Given the description of an element on the screen output the (x, y) to click on. 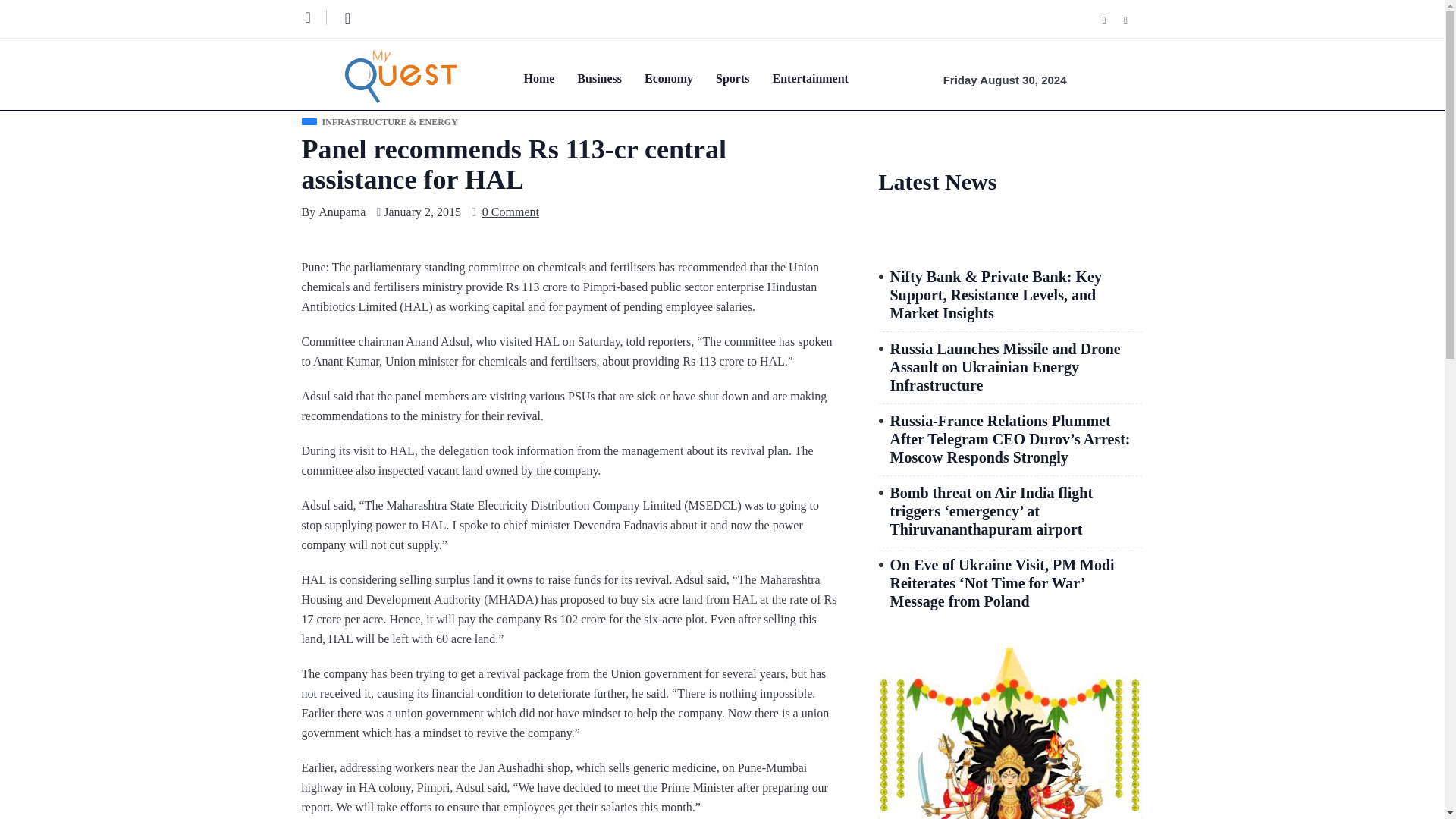
Home (549, 78)
Anupama (341, 211)
Business (610, 78)
Economy (680, 78)
Entertainment (820, 78)
Sports (743, 78)
0 Comment (509, 211)
